Given the description of an element on the screen output the (x, y) to click on. 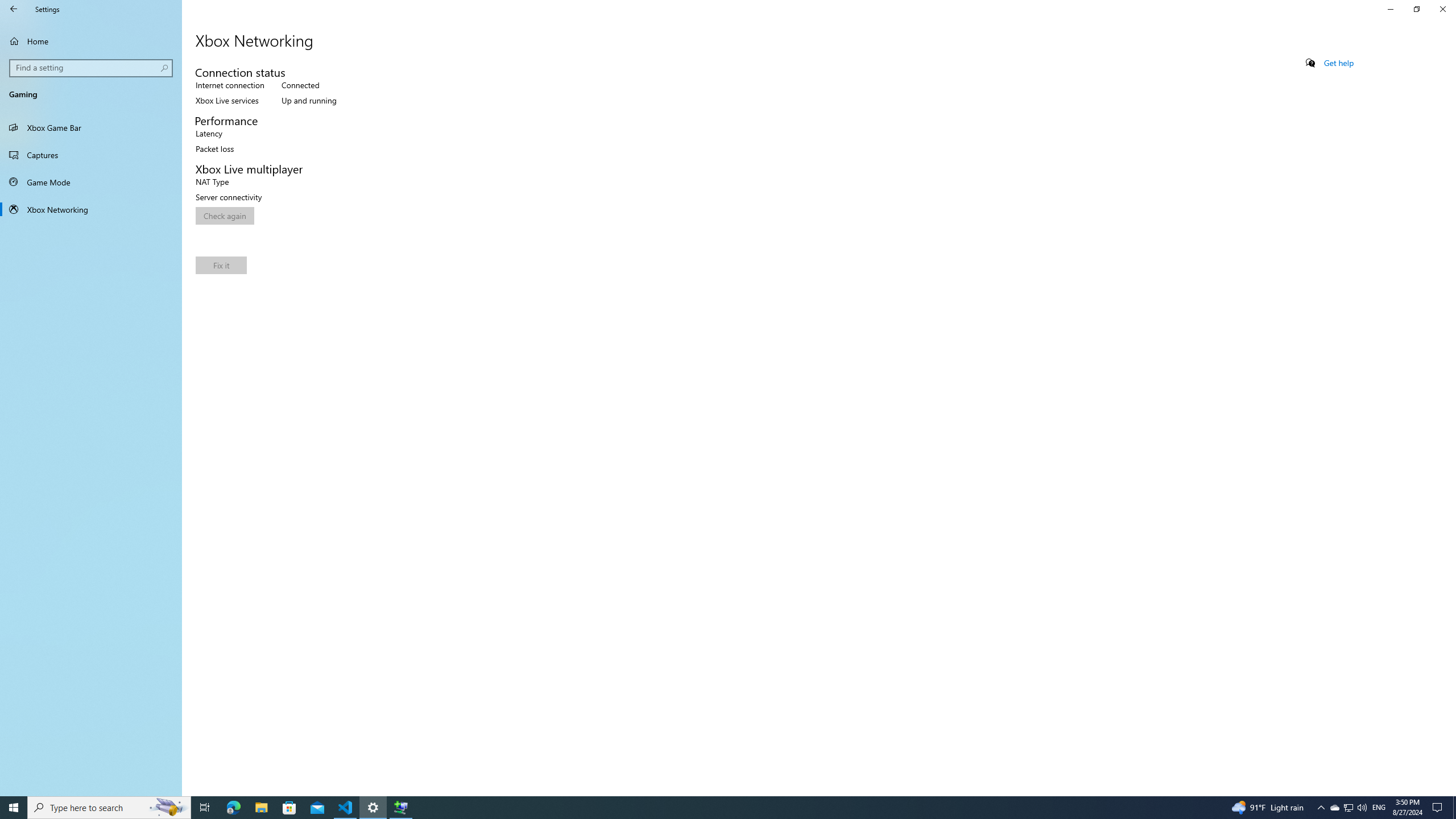
Get help (1338, 62)
Captures (91, 154)
Tray Input Indicator - English (United States) (1378, 807)
Close Settings (1442, 9)
Extensible Wizards Host Process - 1 running window (400, 807)
Game Mode (91, 181)
